Given the description of an element on the screen output the (x, y) to click on. 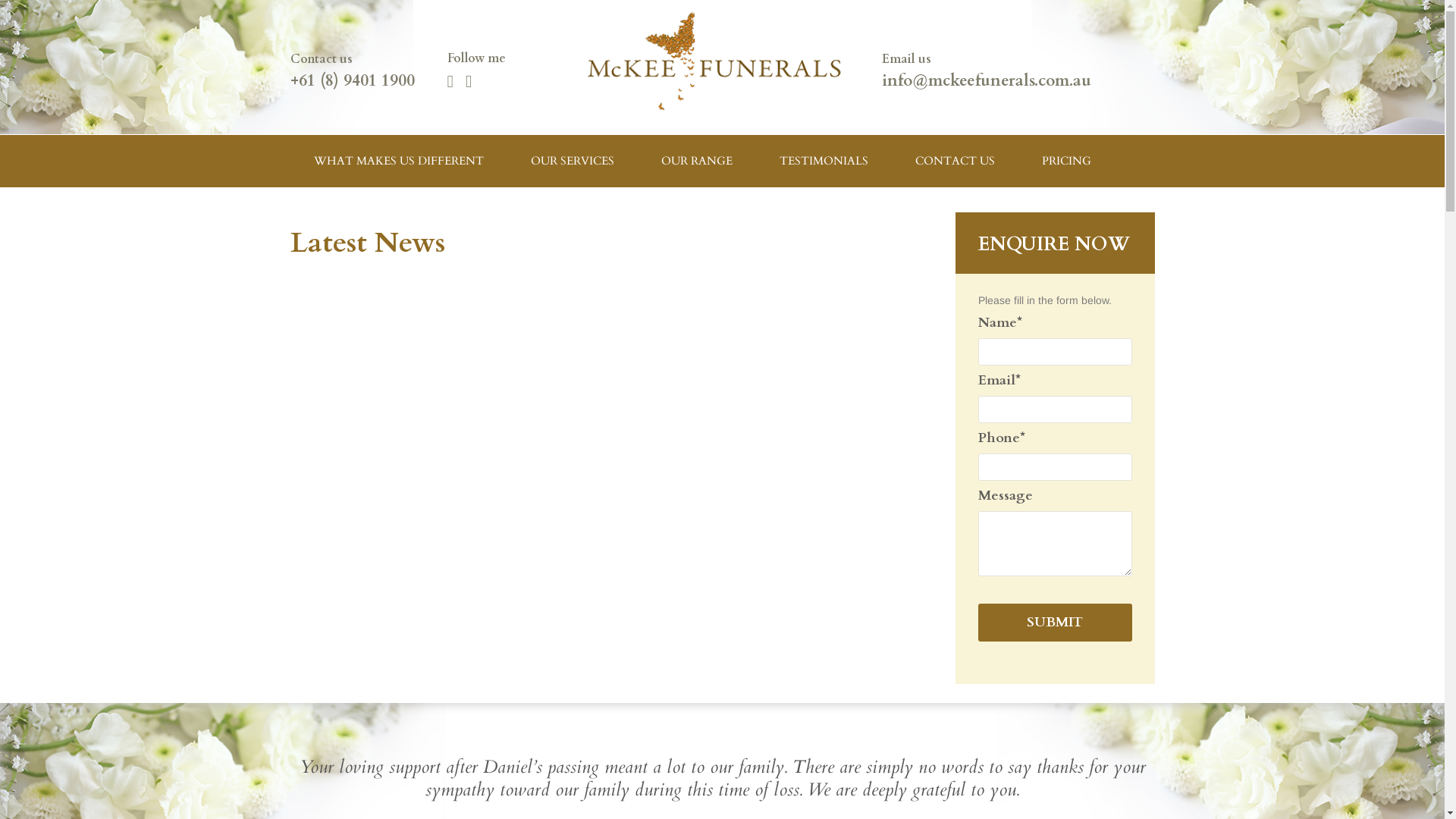
TESTIMONIALS Element type: text (823, 160)
Mckee Funerals Element type: hover (721, 55)
info@mckeefunerals.com.au Element type: text (985, 80)
Submit Element type: text (1055, 622)
WHAT MAKES US DIFFERENT Element type: text (397, 160)
OUR SERVICES Element type: text (571, 160)
CONTACT US Element type: text (954, 160)
OUR RANGE Element type: text (696, 160)
PRICING Element type: text (1065, 160)
+61 (8) 9401 1900 Element type: text (351, 80)
